Given the description of an element on the screen output the (x, y) to click on. 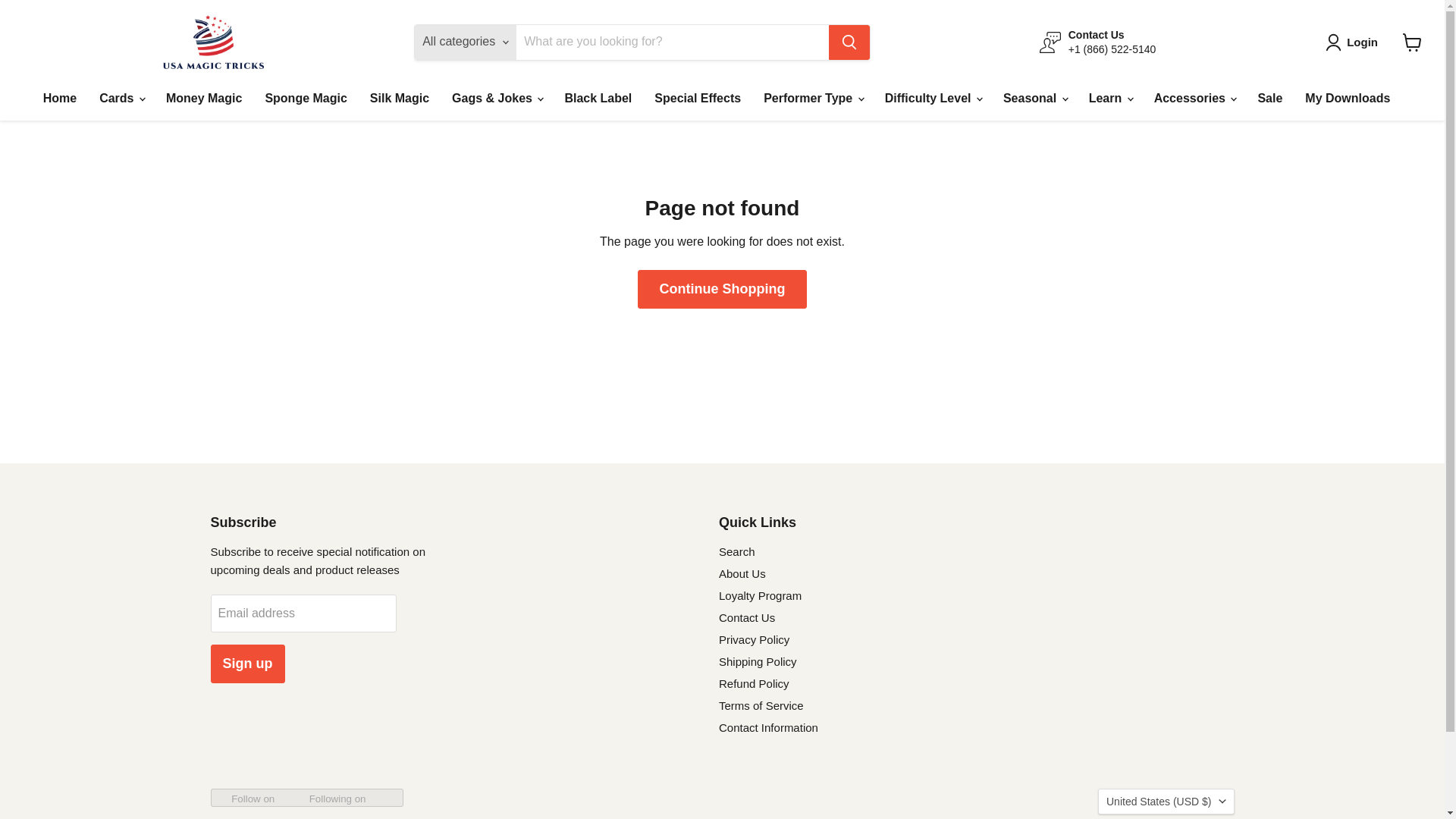
Money Magic (203, 98)
Silk Magic (399, 98)
Special Effects (697, 98)
Sponge Magic (305, 98)
Home (59, 98)
Black Label (598, 98)
Login (1354, 42)
View cart (1411, 41)
